Given the description of an element on the screen output the (x, y) to click on. 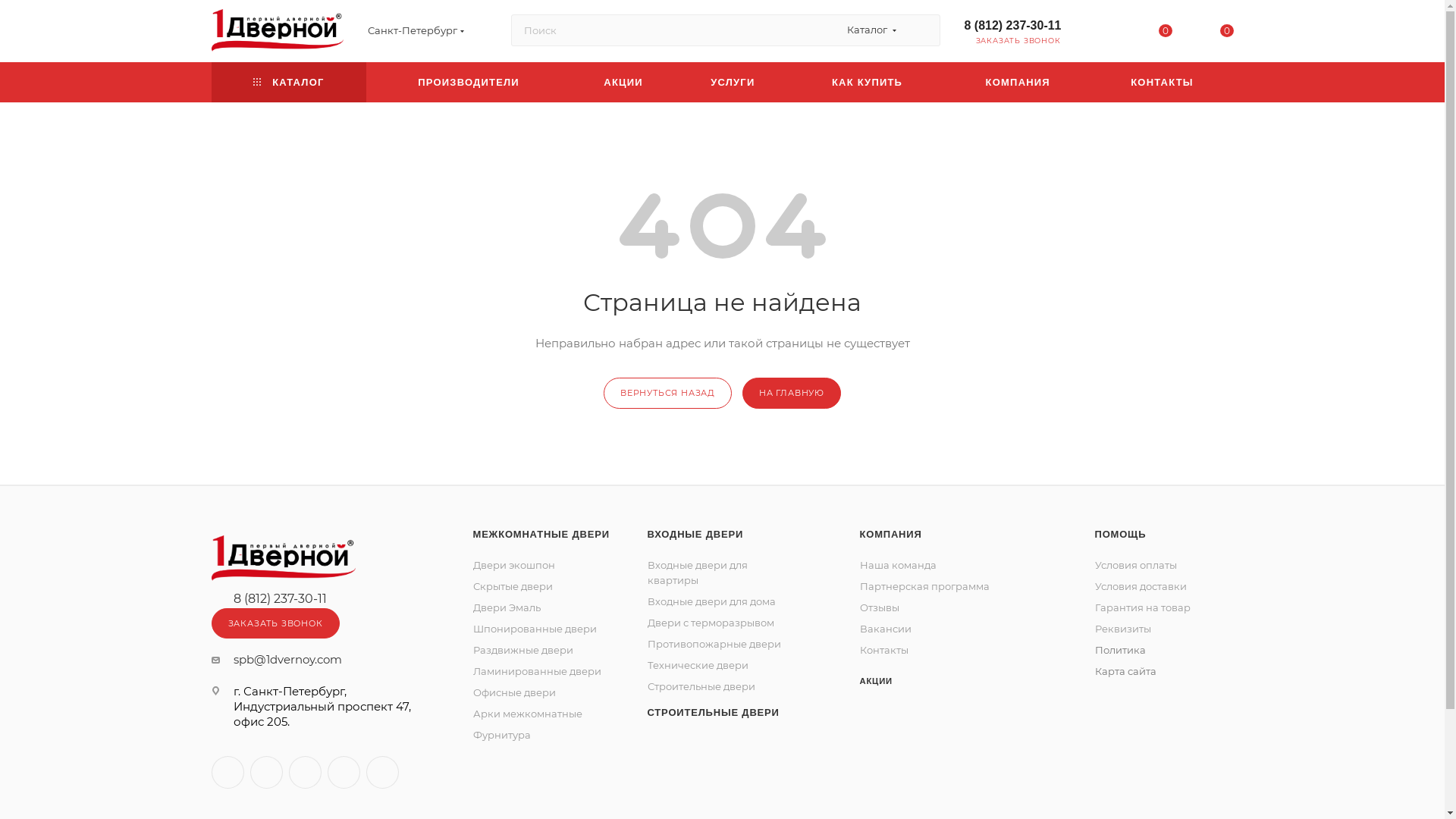
8 (812) 237-30-11 Element type: text (1012, 24)
Viber Element type: text (381, 772)
0 Element type: text (1217, 31)
YouTube Element type: text (304, 772)
0 Element type: text (1156, 31)
8 (812) 237-30-11 Element type: text (279, 599)
spb@1dvernoy.com Element type: text (287, 659)
Telegram Element type: text (266, 772)
